Given the description of an element on the screen output the (x, y) to click on. 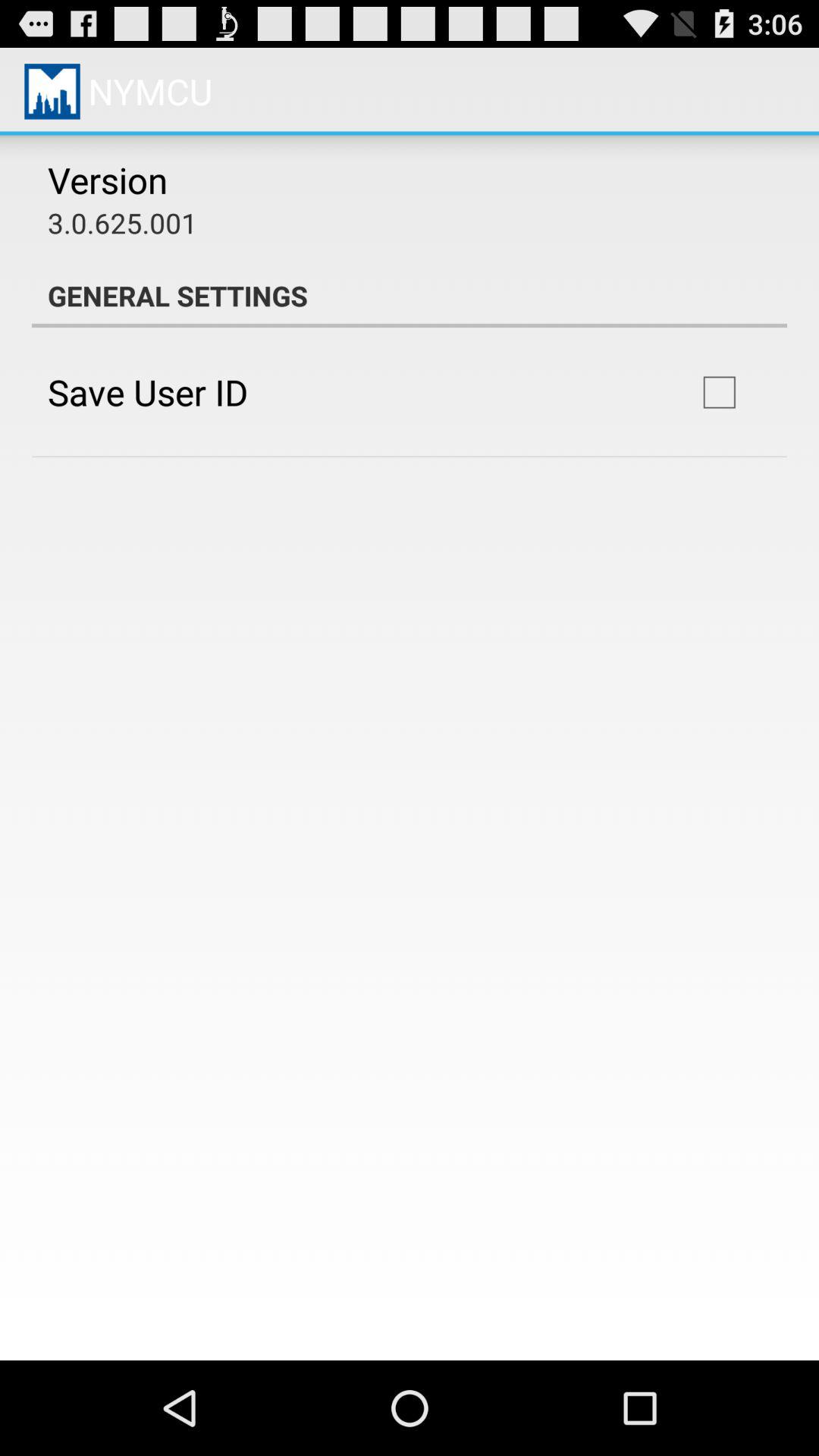
tap app above 3 0 625 app (107, 179)
